Given the description of an element on the screen output the (x, y) to click on. 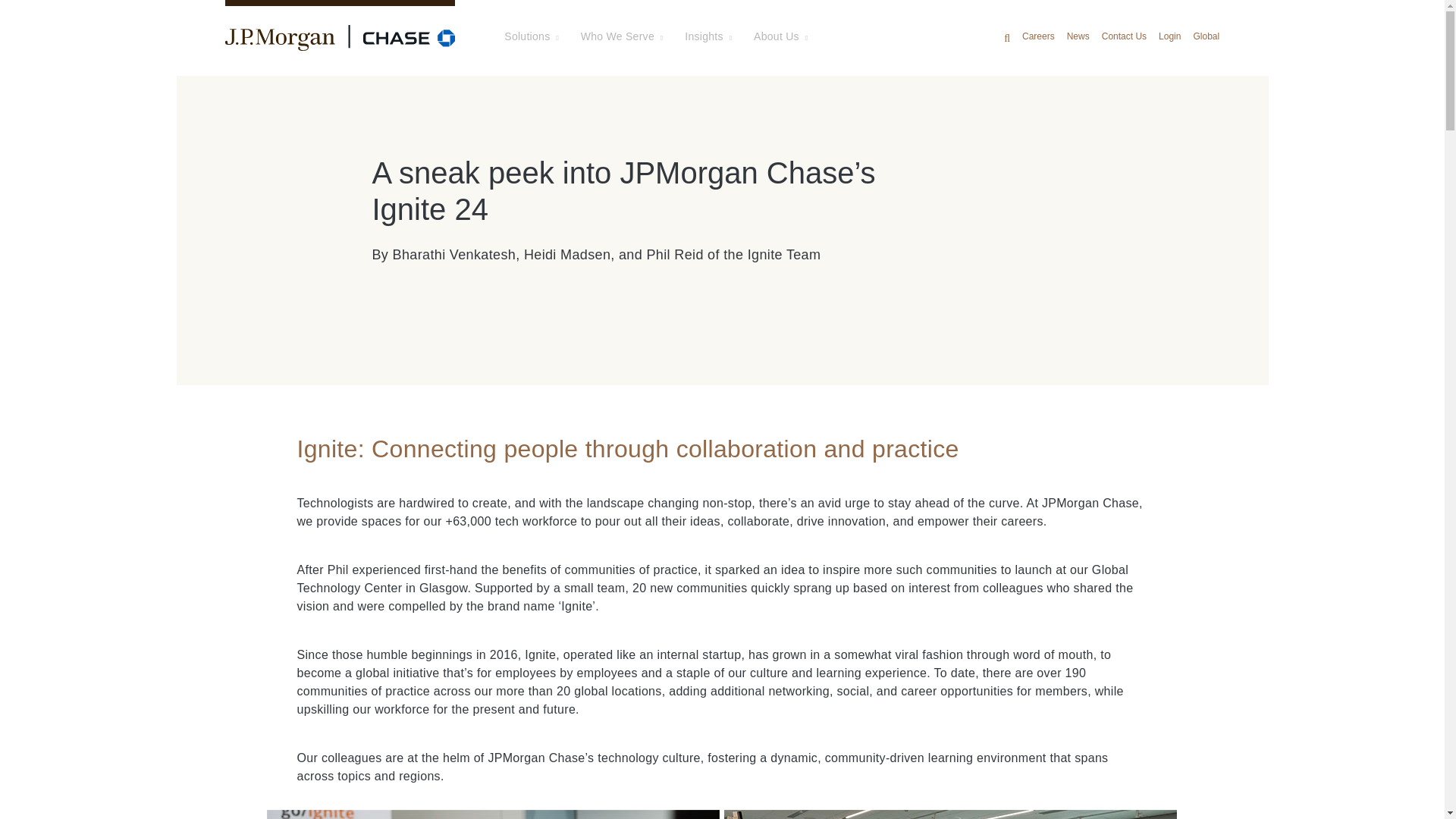
Insights (708, 37)
About Us (781, 37)
Who We Serve (621, 37)
Solutions (530, 37)
News (1078, 36)
Careers (1038, 36)
Login (1169, 36)
Contact Us (1124, 36)
